Given the description of an element on the screen output the (x, y) to click on. 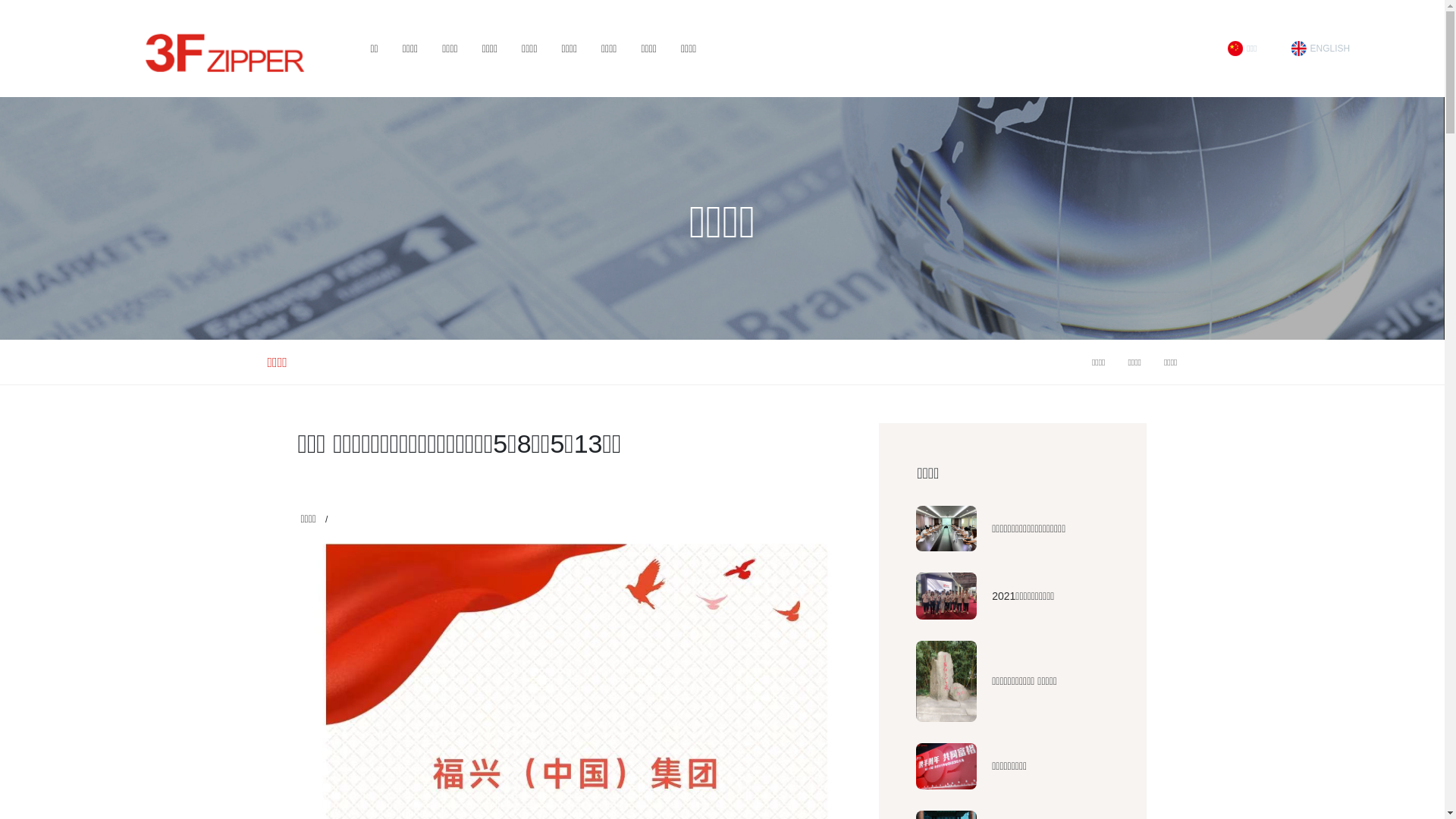
ENGLISH Element type: text (1320, 48)
